Given the description of an element on the screen output the (x, y) to click on. 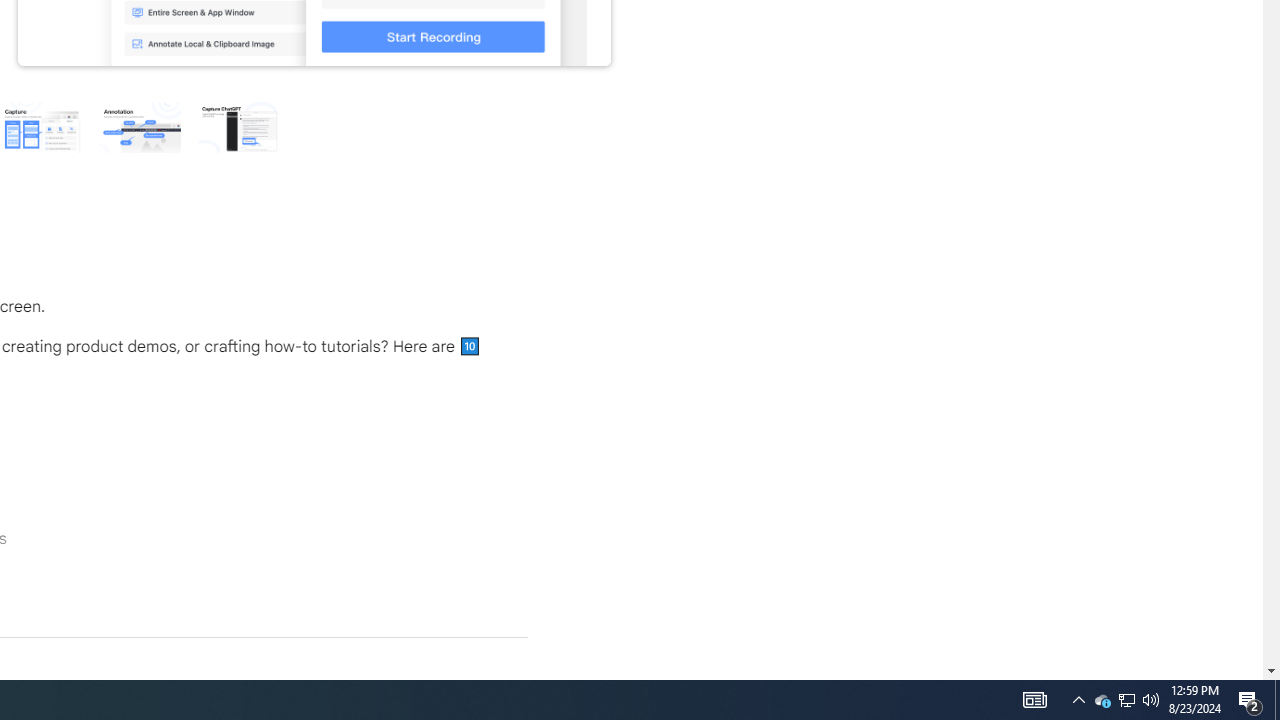
Q2790: 100% (1151, 699)
Action Center, 2 new notifications (1102, 699)
Show desktop (1250, 699)
Preview slide 6 (1277, 699)
Preview slide 5 (238, 126)
Preview slide 4 (139, 126)
User Promoted Notification Area (40, 126)
AutomationID: 4105 (1126, 699)
Notification Chevron (1126, 699)
